Given the description of an element on the screen output the (x, y) to click on. 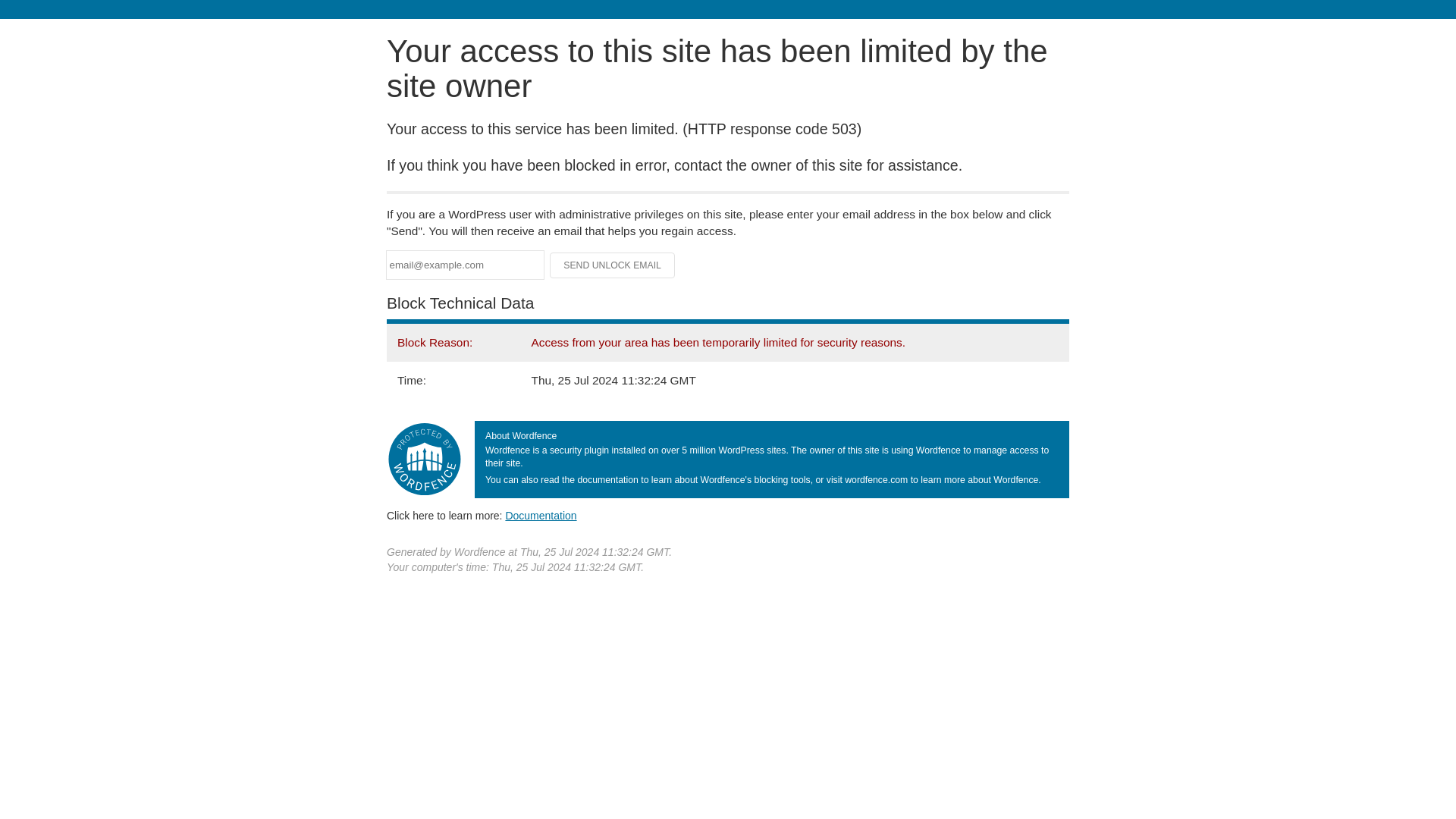
Send Unlock Email (612, 265)
Documentation (540, 515)
Send Unlock Email (612, 265)
